Given the description of an element on the screen output the (x, y) to click on. 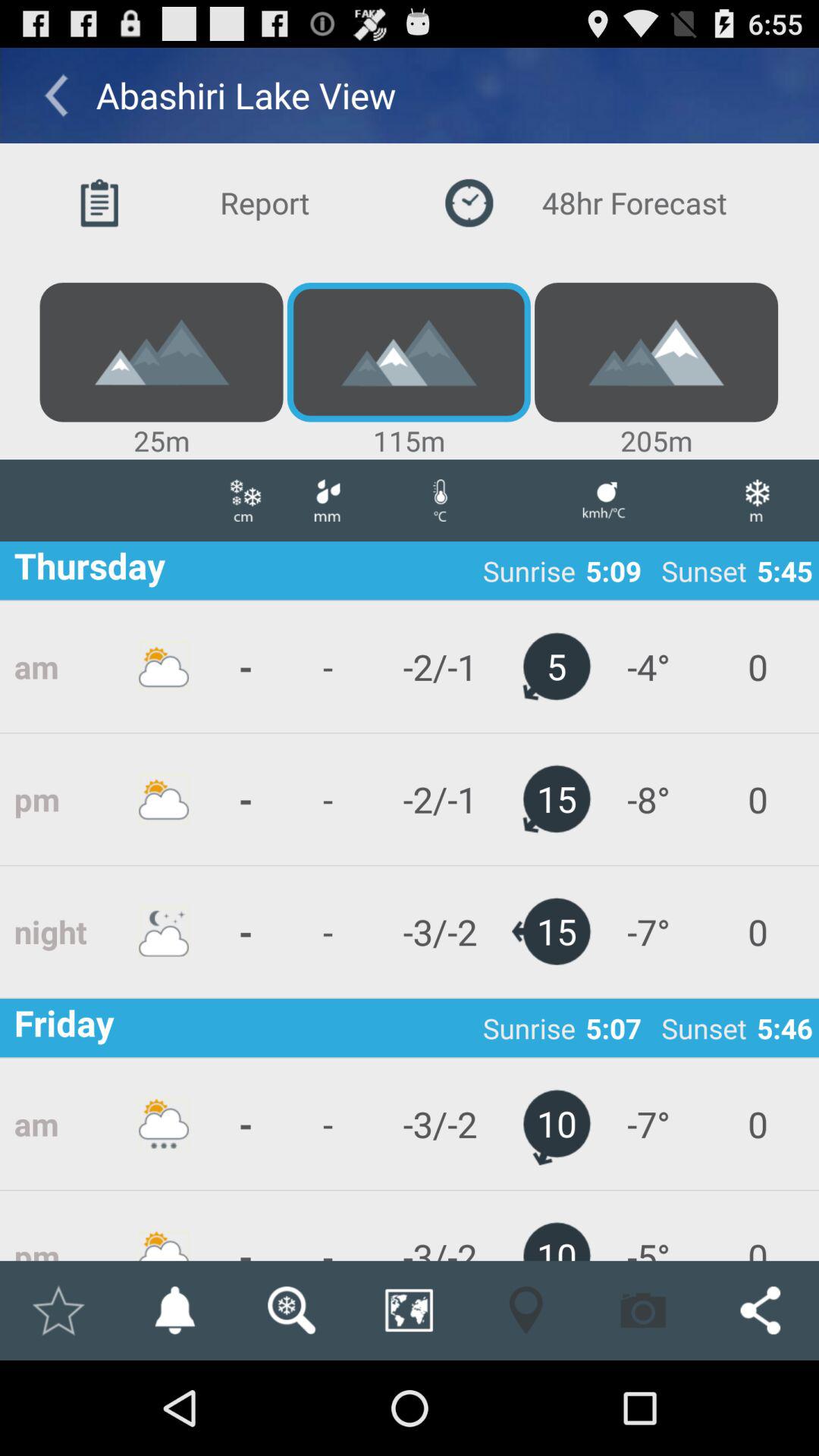
share the weather (760, 1310)
